Given the description of an element on the screen output the (x, y) to click on. 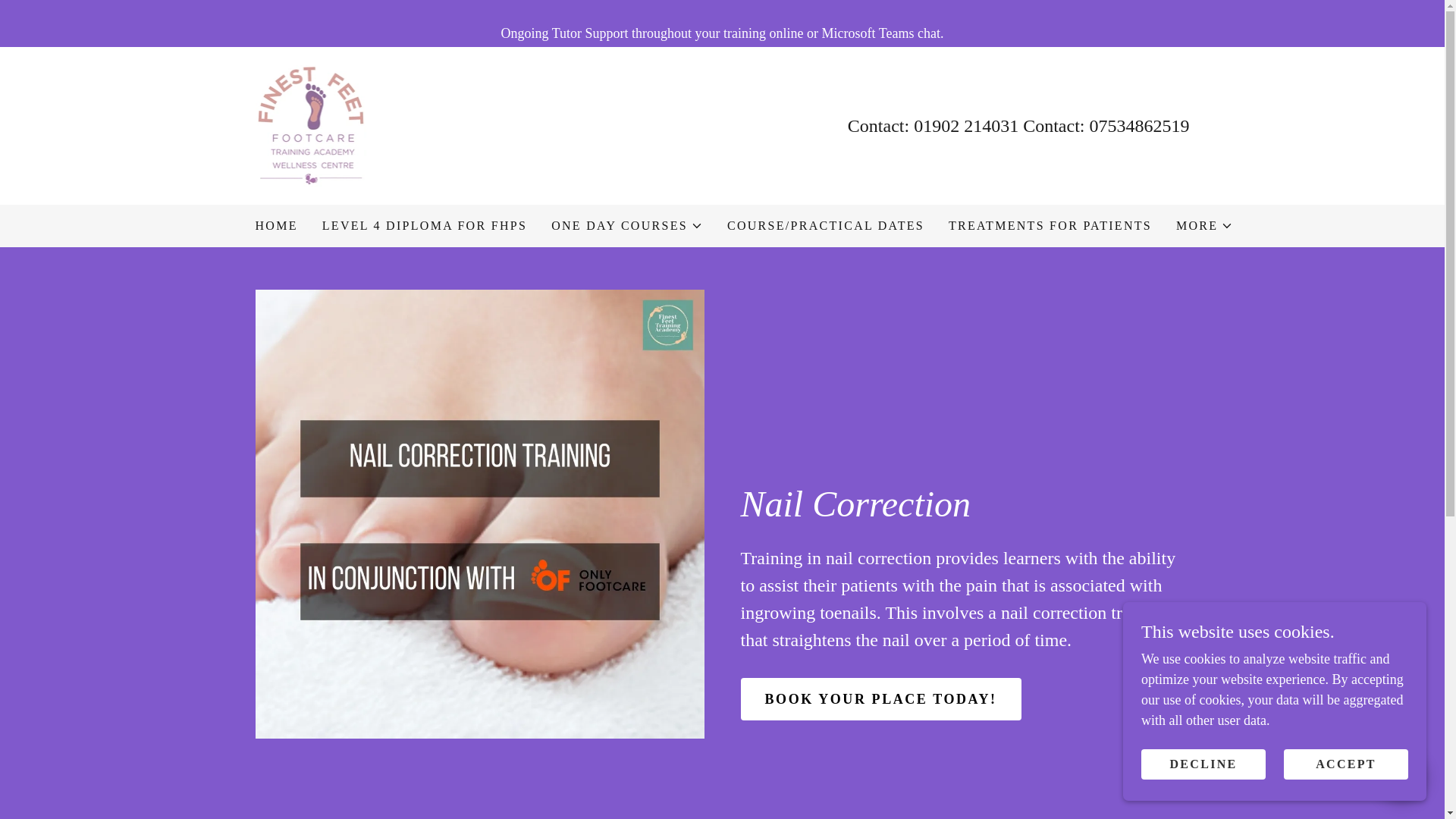
Finest Feet Training Solutions (310, 124)
07534862519 (1139, 125)
LEVEL 4 DIPLOMA FOR FHPS (424, 225)
MORE (1204, 226)
01902 214031 (965, 125)
TREATMENTS FOR PATIENTS (1049, 225)
HOME (275, 225)
ONE DAY COURSES (627, 226)
